Given the description of an element on the screen output the (x, y) to click on. 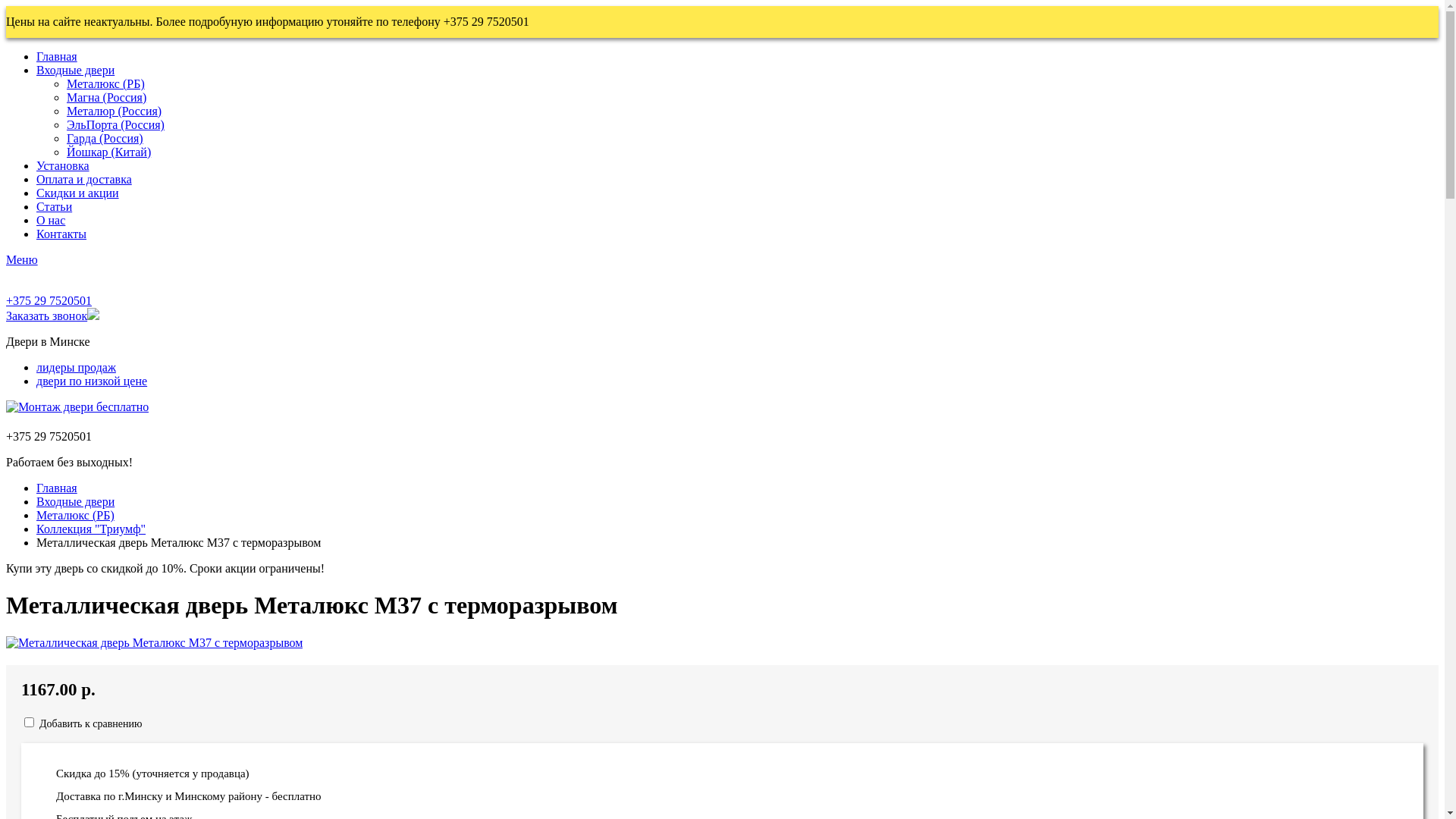
+375 29 7520501 Element type: text (48, 300)
